Given the description of an element on the screen output the (x, y) to click on. 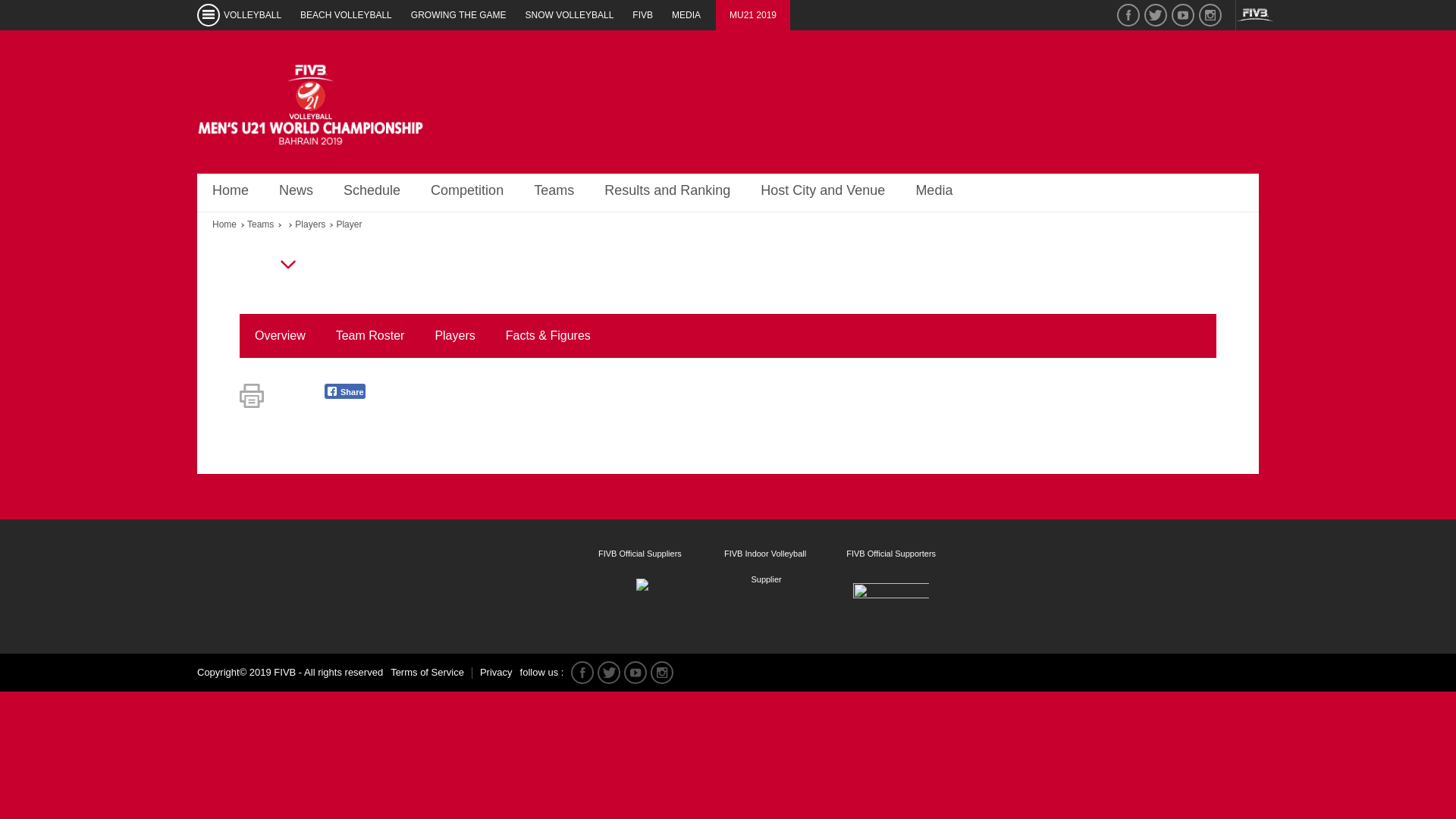
Twitter Tweet Button (293, 391)
